Given the description of an element on the screen output the (x, y) to click on. 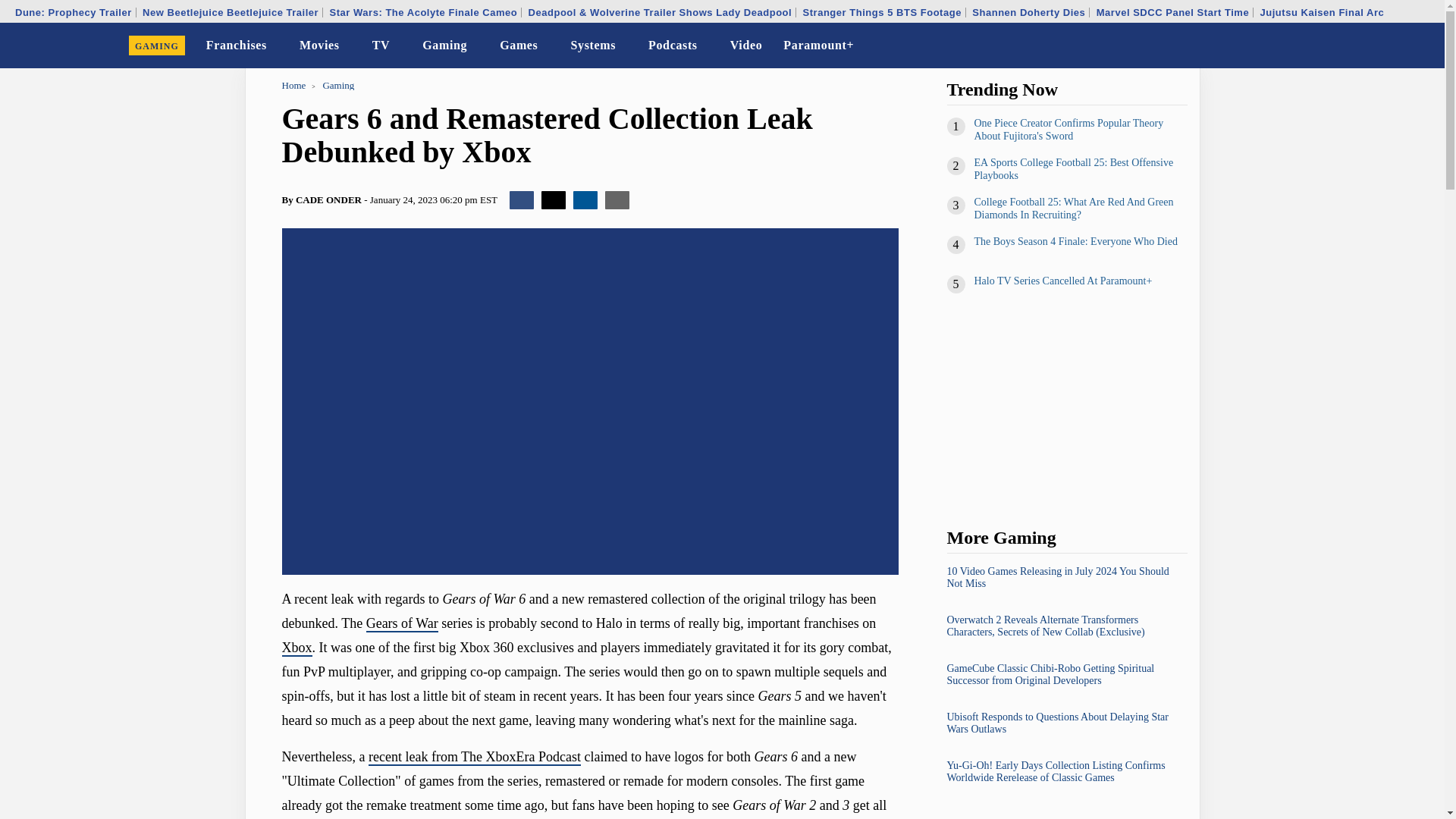
Arrow (400, 45)
Search (1422, 46)
TV (381, 45)
New Beetlejuice Beetlejuice Trailer (229, 12)
Dune: Prophecy Trailer (73, 12)
Movies (320, 45)
GAMING (157, 45)
Arrow (277, 46)
Arrow (349, 46)
Arrow (547, 46)
Arrow (707, 46)
Stranger Things 5 BTS Footage (882, 12)
Arrow (349, 45)
Arrow (477, 46)
